Given the description of an element on the screen output the (x, y) to click on. 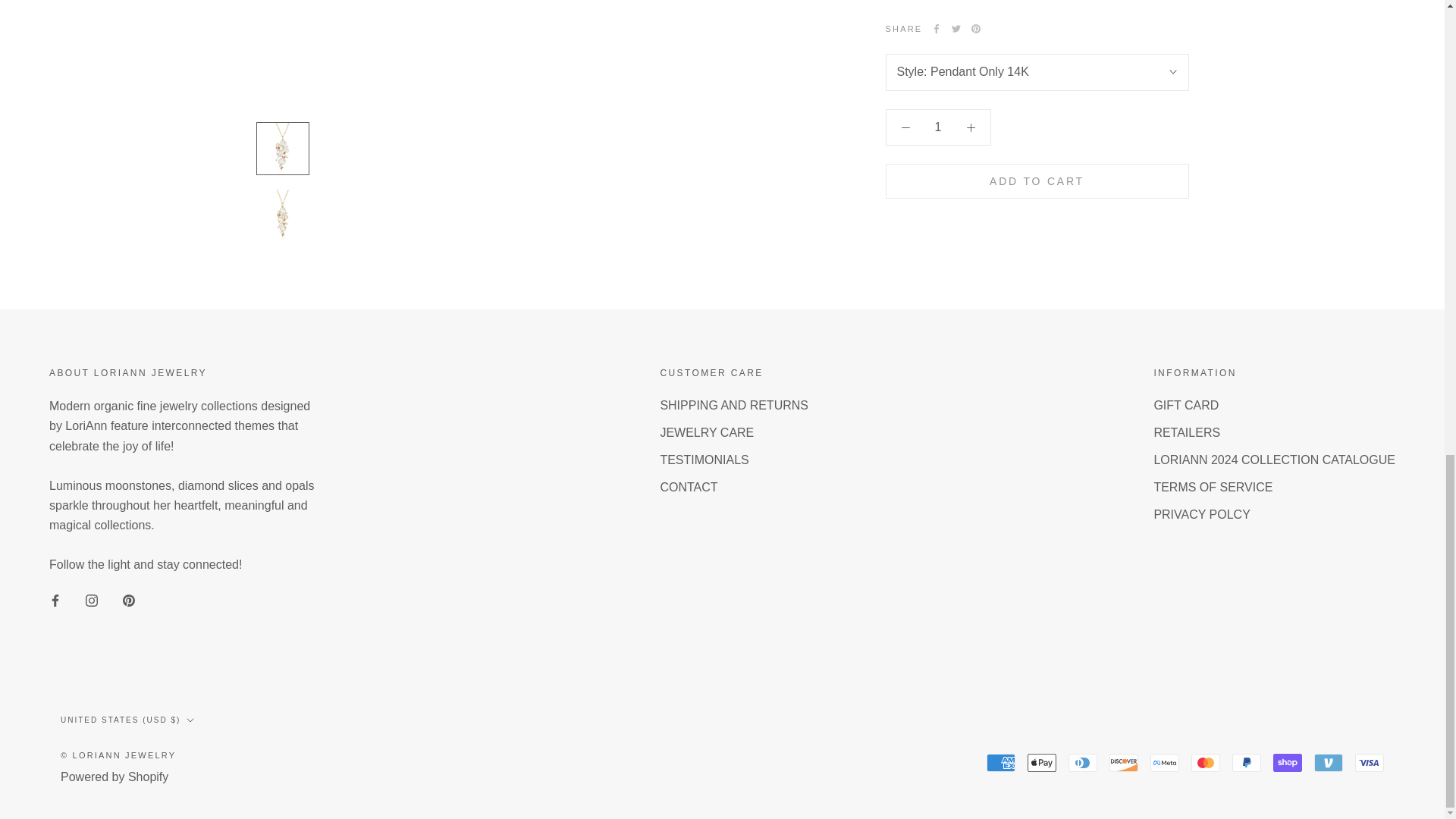
1 (938, 110)
PayPal (1245, 762)
Mastercard (1205, 762)
Diners Club (1082, 762)
Shop Pay (1286, 762)
Venmo (1328, 762)
Apple Pay (1042, 762)
Meta Pay (1164, 762)
Discover (1123, 762)
American Express (1000, 762)
